Given the description of an element on the screen output the (x, y) to click on. 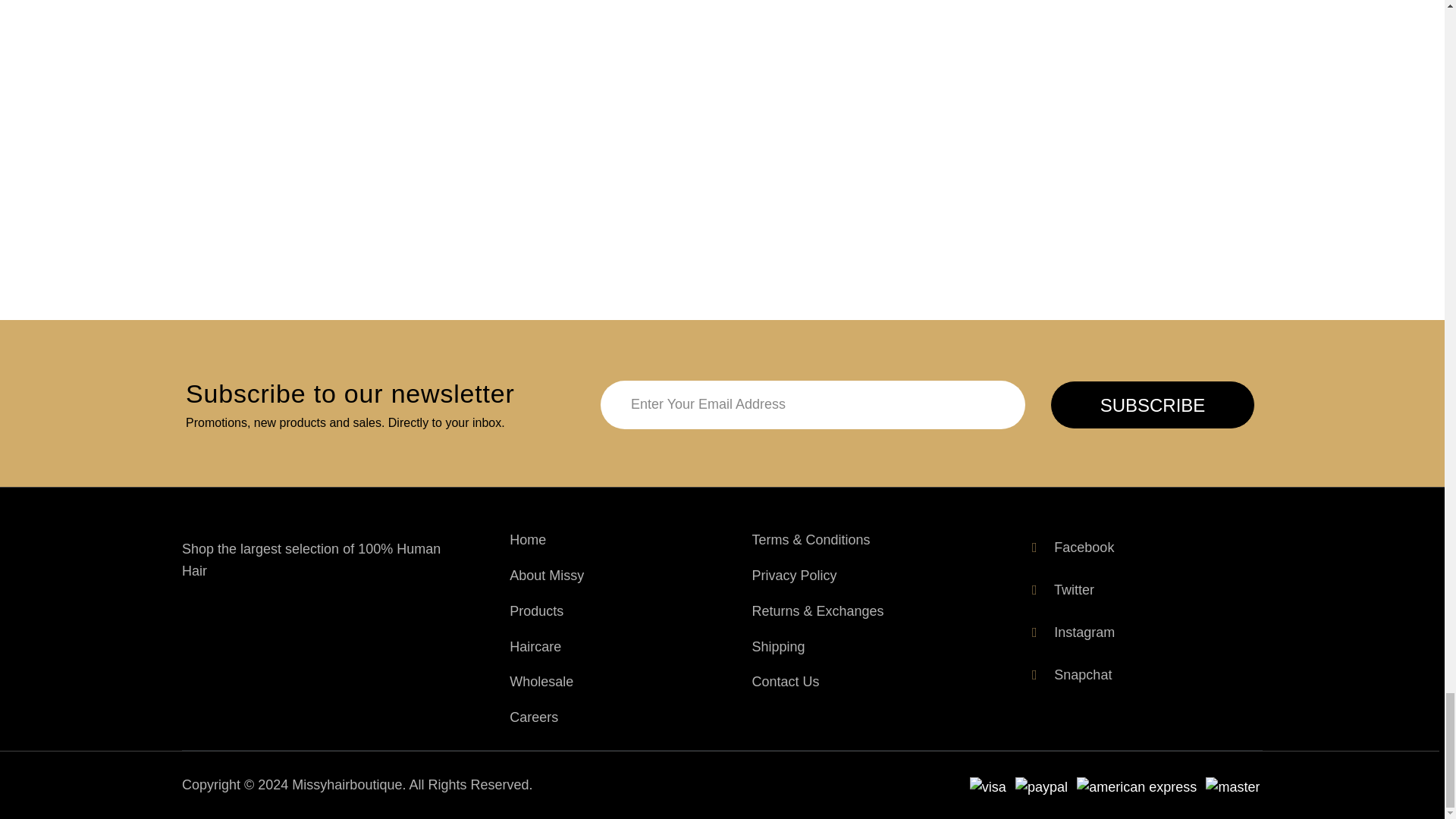
Missyhairboutique on Instagram (1070, 632)
Subscribe (1152, 404)
Missyhairboutique on Twitter (1060, 590)
Missyhairboutique on Facebook (1070, 548)
